Given the description of an element on the screen output the (x, y) to click on. 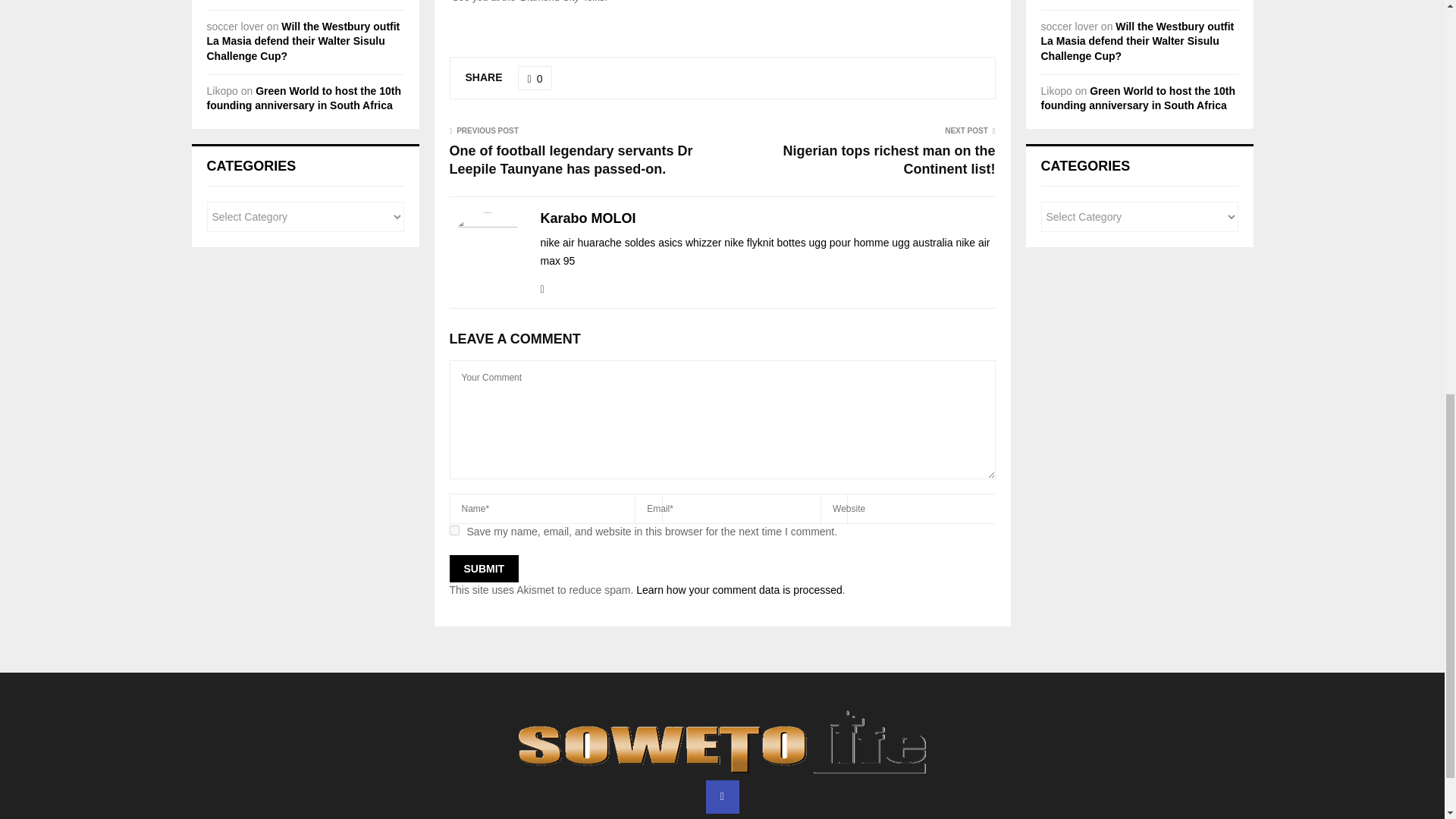
Like (535, 78)
Posts by Karabo MOLOI (587, 218)
yes (453, 530)
Facebook (721, 797)
Submit (483, 568)
